Given the description of an element on the screen output the (x, y) to click on. 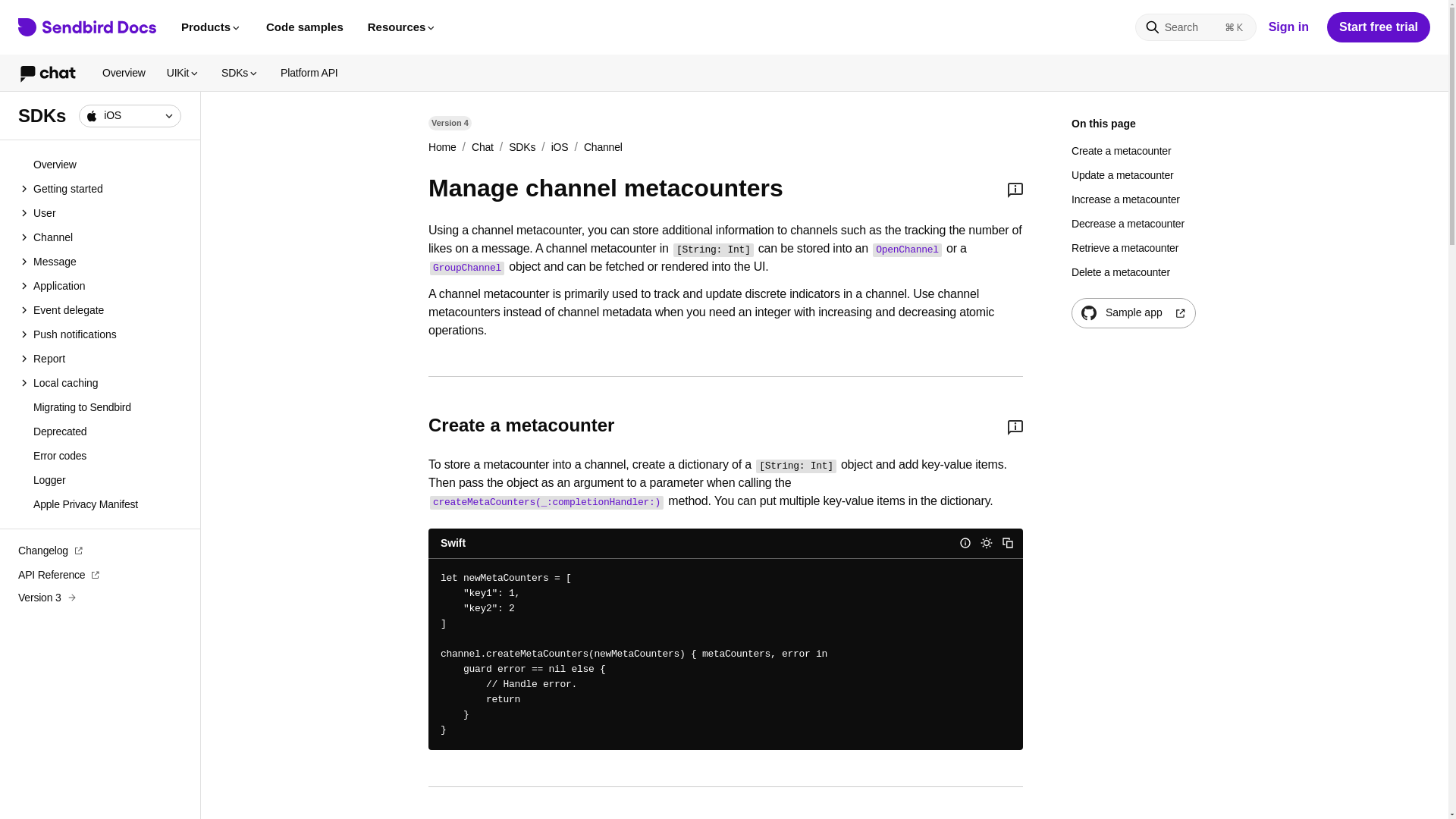
Sign in (1288, 26)
Products (210, 27)
Resources (402, 27)
Overview (123, 72)
GitHub logo (1088, 313)
iOS logo (91, 114)
UIKit (183, 72)
Start free trial (1377, 27)
SDKs (239, 72)
Search (1195, 26)
